Given the description of an element on the screen output the (x, y) to click on. 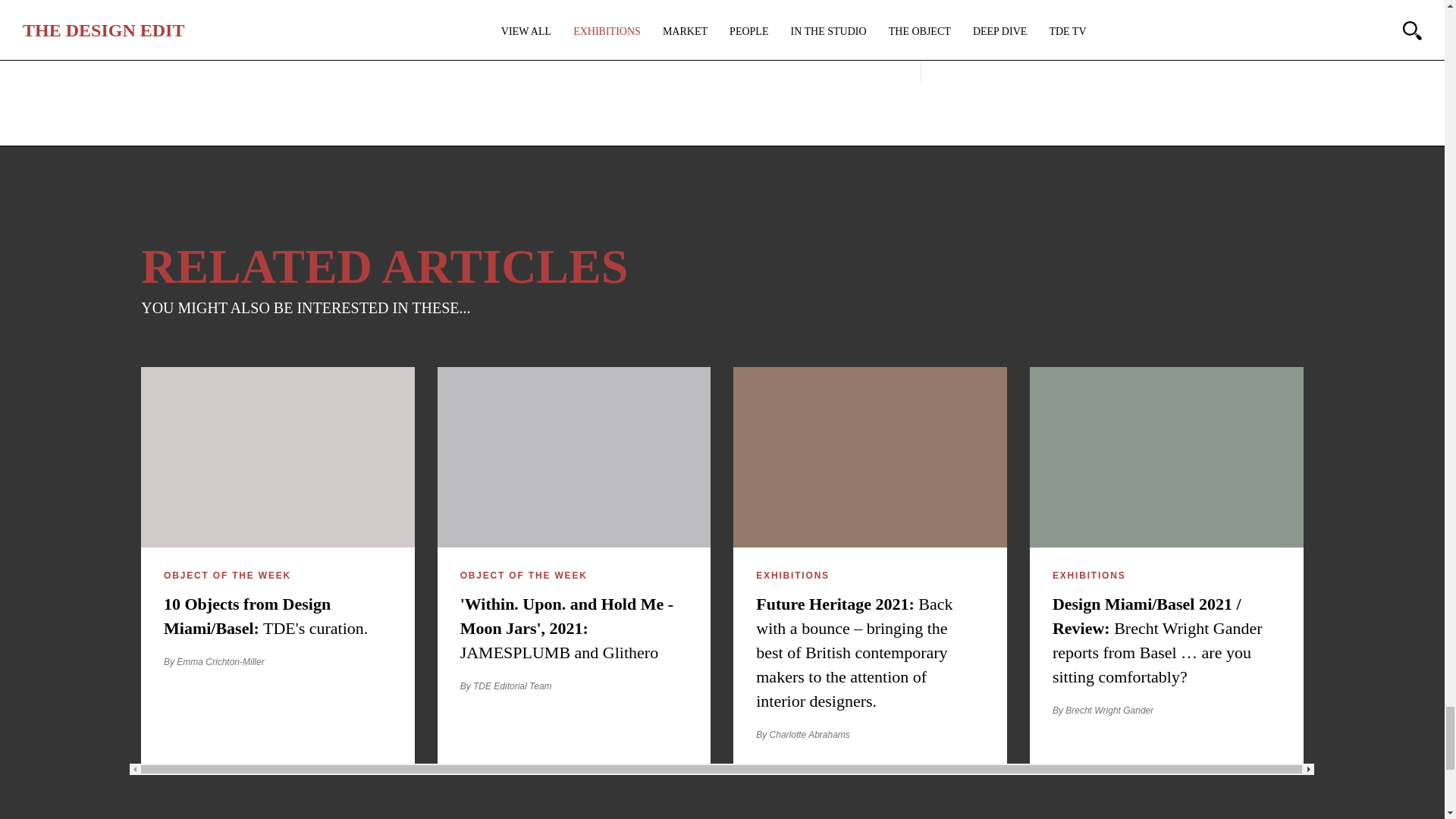
View all articles by Adrian Madlener (571, 42)
